Given the description of an element on the screen output the (x, y) to click on. 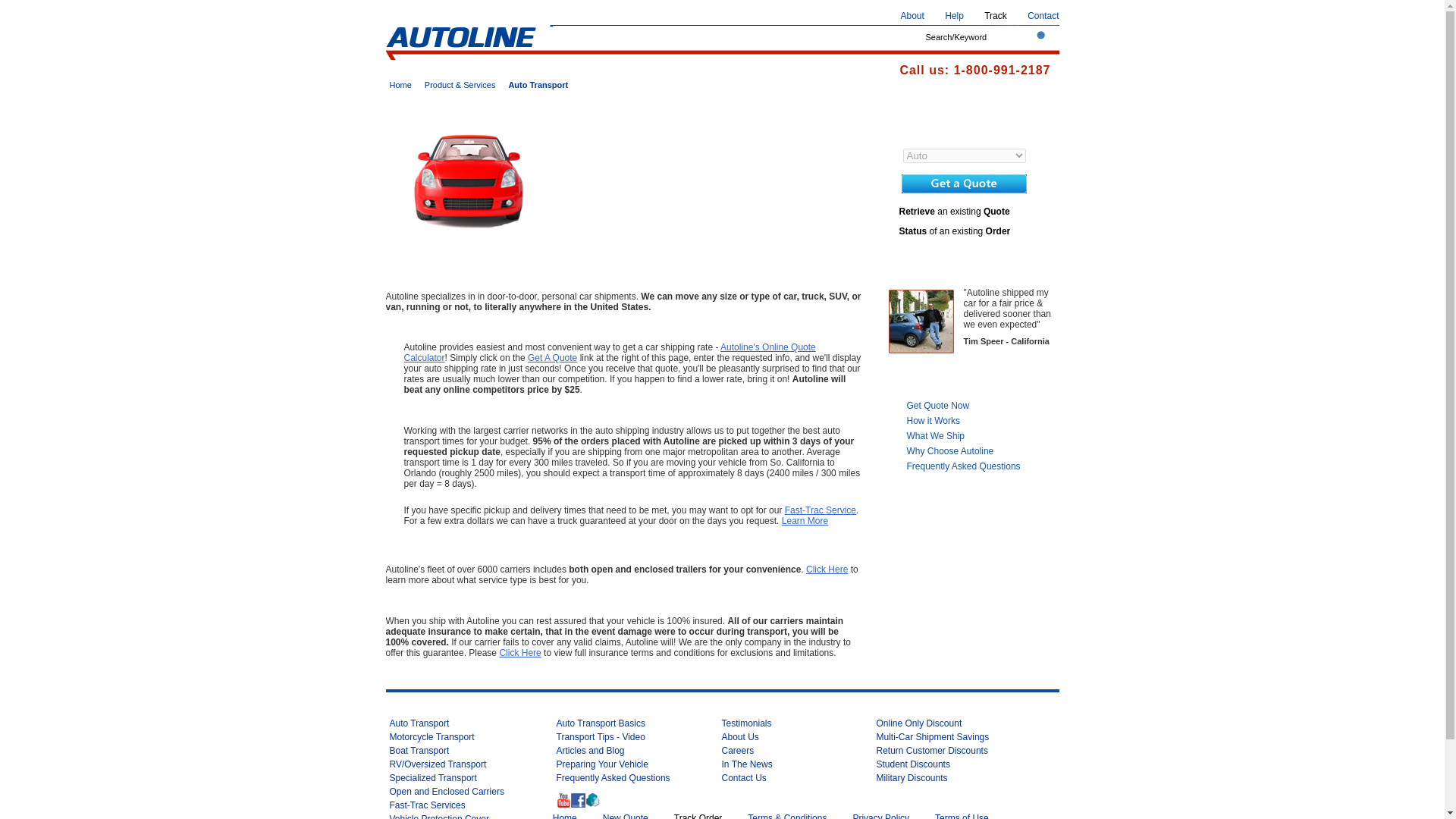
Frequently Asked Questions (612, 777)
Boat Transport (419, 750)
Fast-Trac Service (820, 510)
Auto Transport Basics (600, 723)
Testimonials (746, 723)
Careers (738, 750)
About (912, 15)
Contact (1042, 15)
Auto Transport (419, 723)
Fast-Trac Services (427, 805)
Contact Us (744, 777)
How it Works (983, 420)
Why Choose Autoline (983, 451)
Motorcycle Transport (432, 737)
Get A Quote (551, 357)
